Given the description of an element on the screen output the (x, y) to click on. 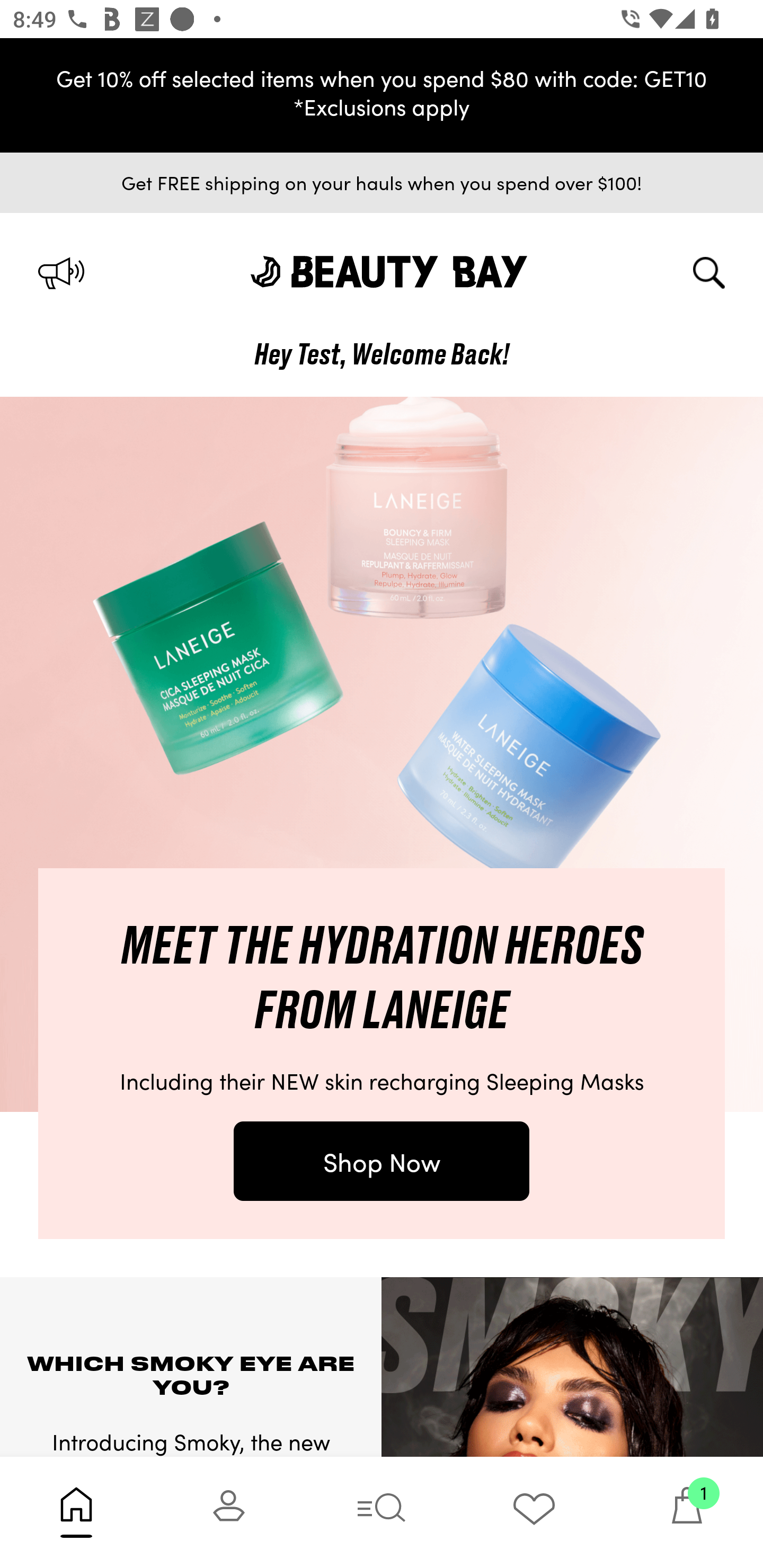
1 (686, 1512)
